Given the description of an element on the screen output the (x, y) to click on. 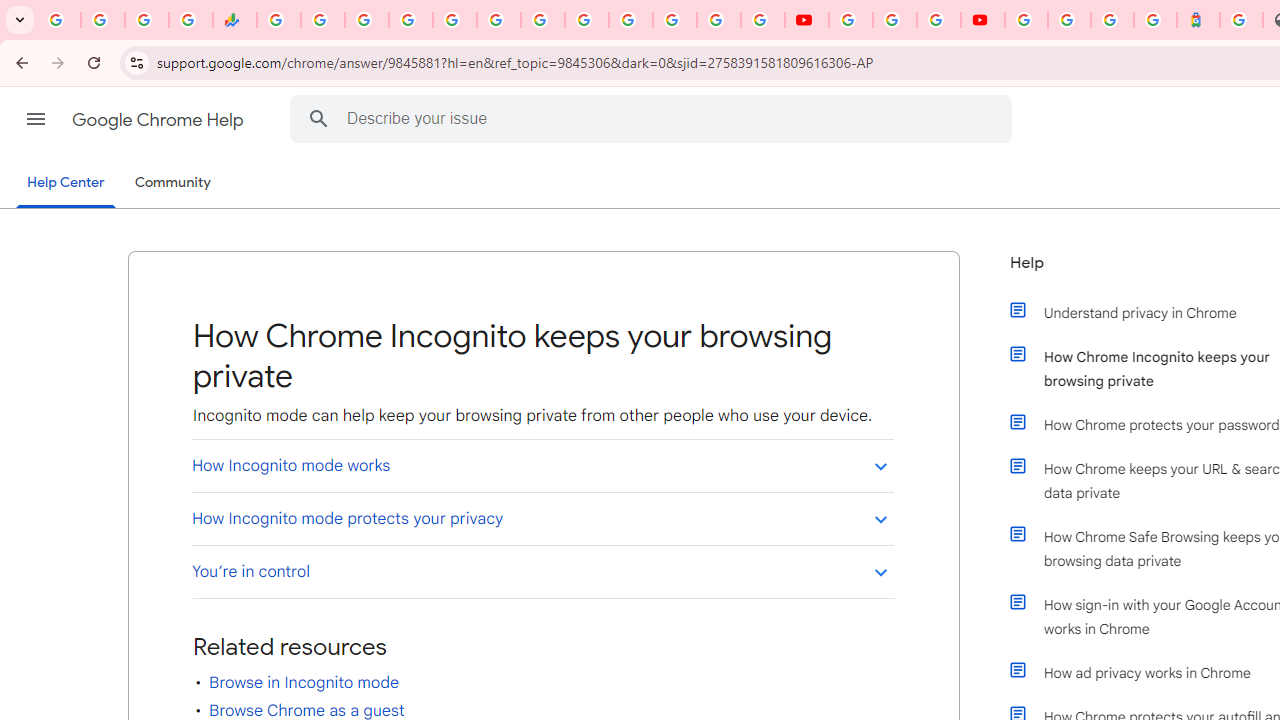
Sign in - Google Accounts (410, 20)
Search Help Center (318, 118)
Browse in Incognito mode (303, 682)
Help Center (65, 183)
Google Workspace Admin Community (58, 20)
YouTube (806, 20)
YouTube (850, 20)
Sign in - Google Accounts (1069, 20)
